Given the description of an element on the screen output the (x, y) to click on. 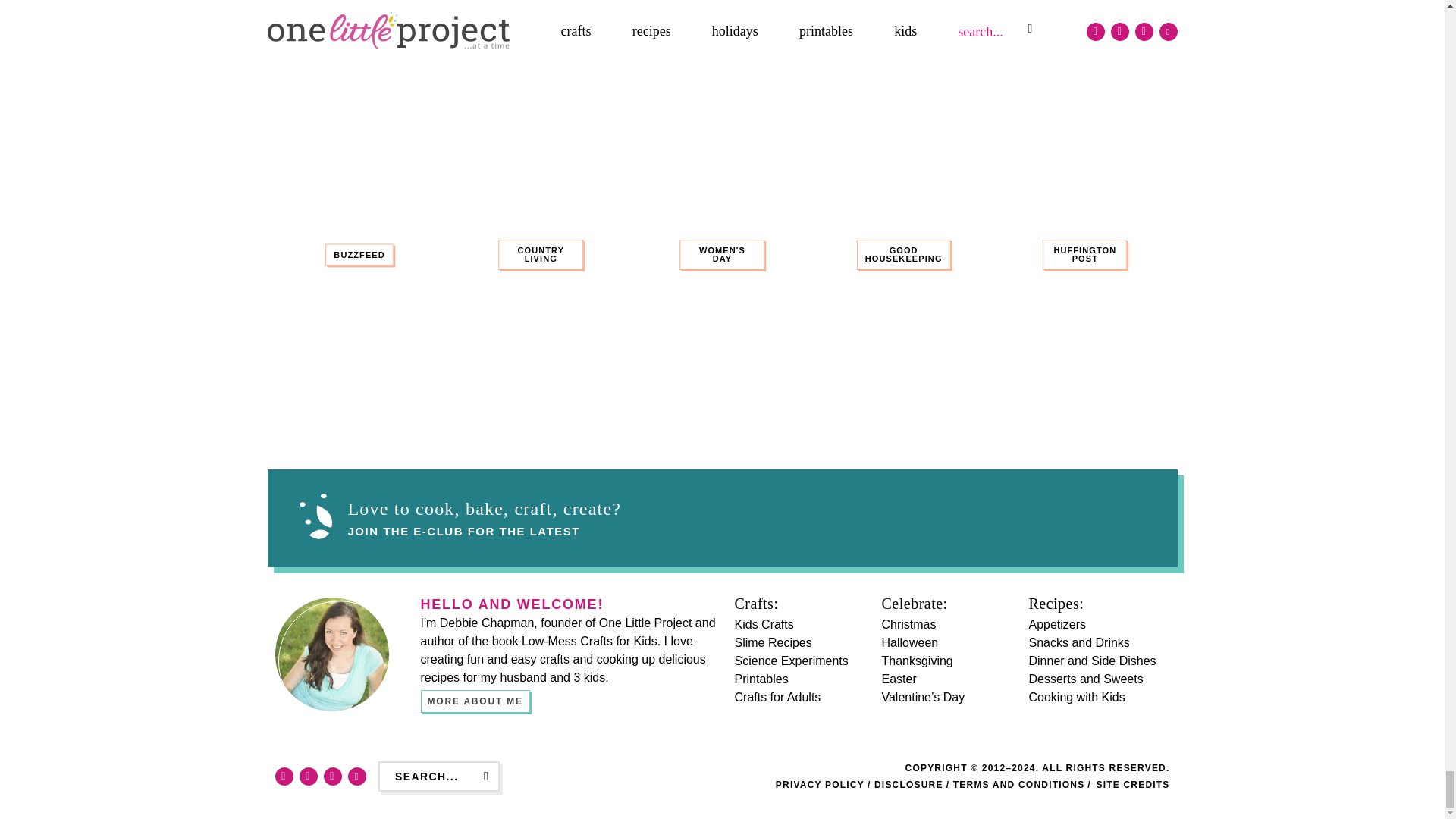
Search (484, 776)
Search (484, 776)
